Given the description of an element on the screen output the (x, y) to click on. 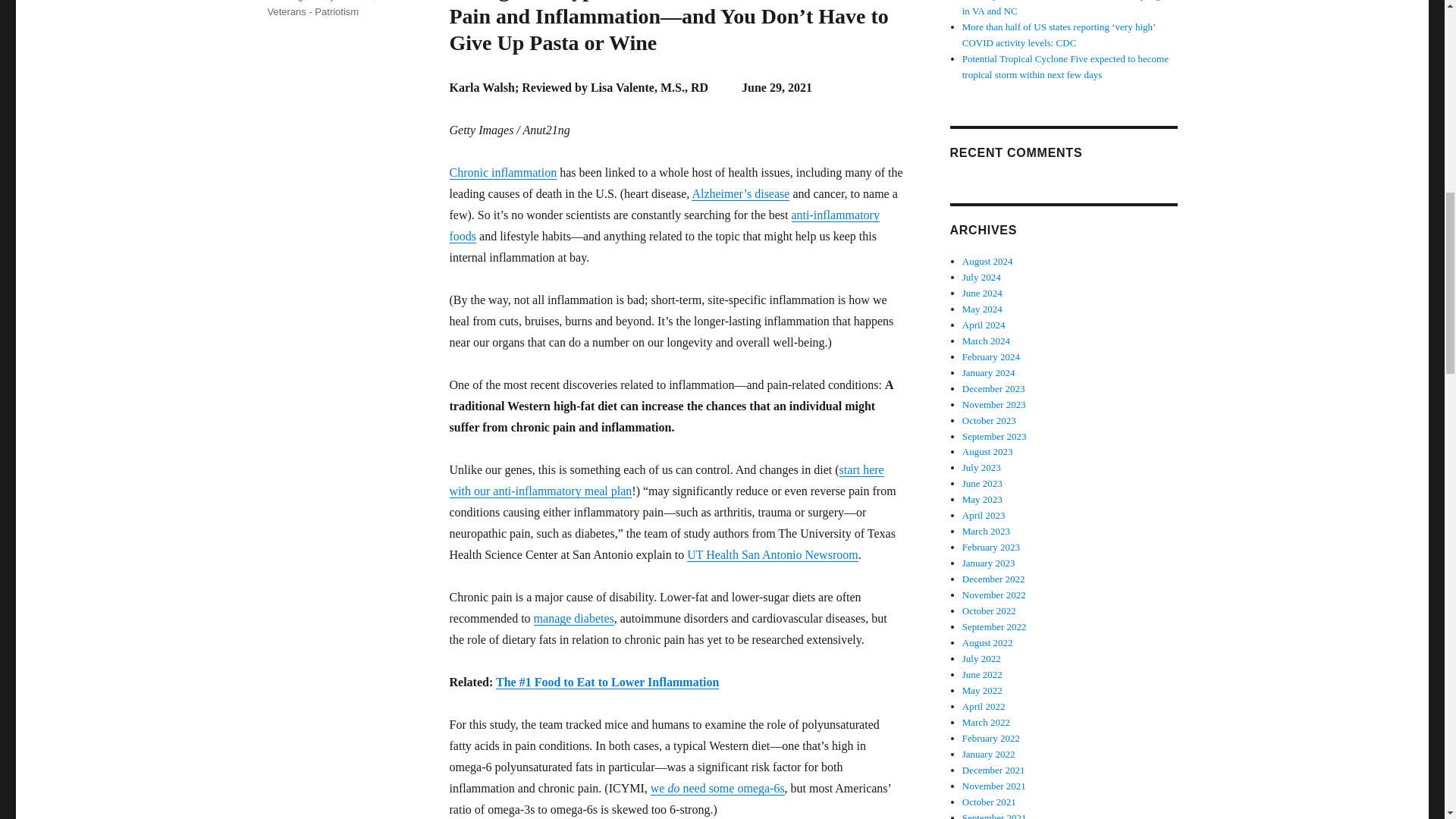
Today's News? (341, 0)
start here with our anti-inflammatory meal plan (665, 480)
Labor and Working (333, 0)
July 2024 (981, 276)
June 2024 (982, 292)
anti-inflammatory foods (663, 225)
August 2024 (987, 260)
Chronic inflammation (502, 172)
manage diabetes (574, 617)
